Given the description of an element on the screen output the (x, y) to click on. 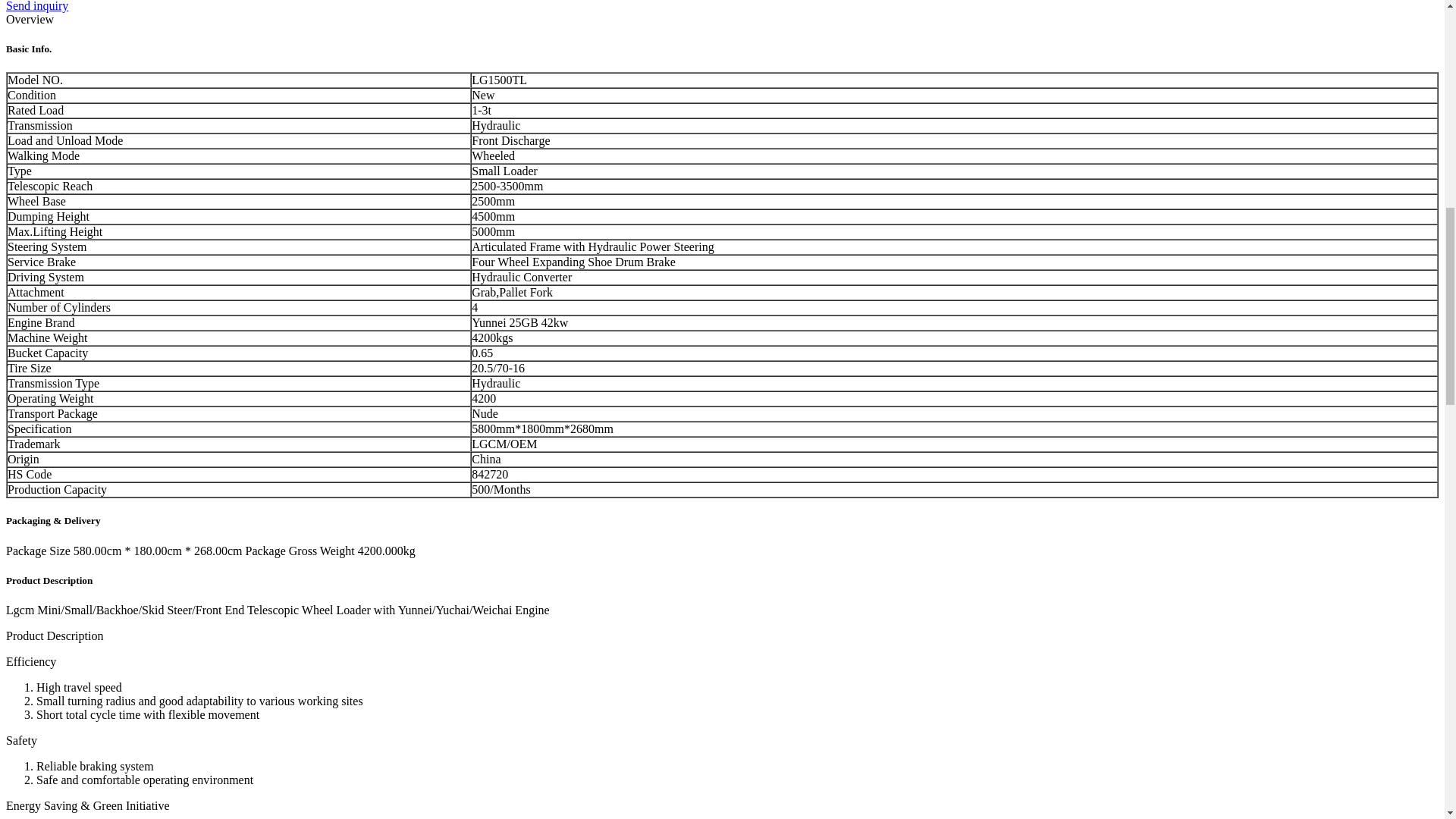
Send inquiry (36, 6)
